Given the description of an element on the screen output the (x, y) to click on. 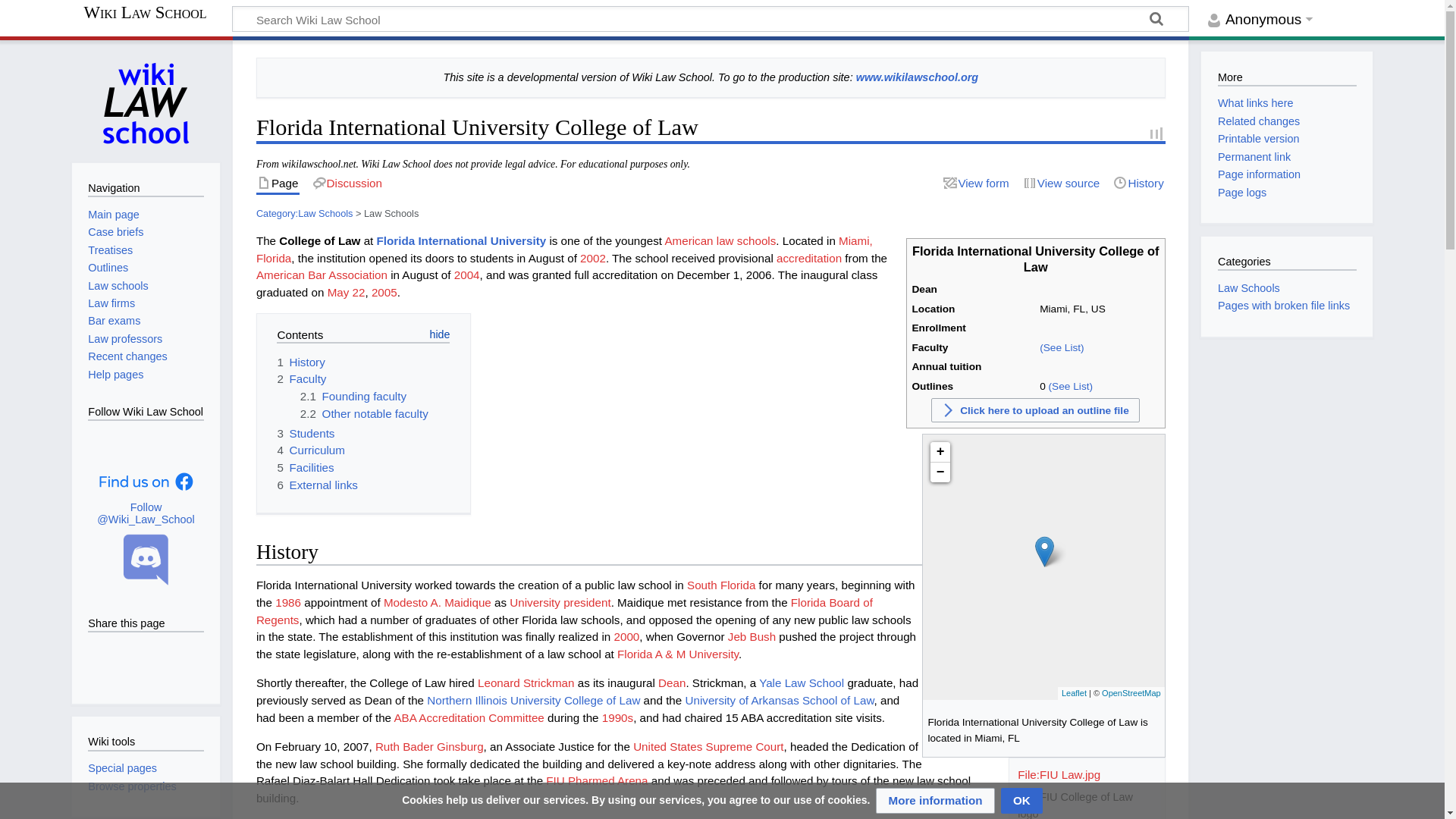
OpenStreetMap (1131, 692)
Zoom in (940, 452)
2005 (384, 291)
Search (1155, 21)
Search the pages for this text (1155, 21)
5 Facilities (304, 467)
1 History (300, 360)
4 Curriculum (309, 449)
3 Students (305, 432)
2.1 Founding faculty (352, 395)
law schools (746, 240)
2002 (592, 257)
Florida International University College of Law (1044, 551)
Category:Law Schools (304, 213)
Page (277, 183)
